Given the description of an element on the screen output the (x, y) to click on. 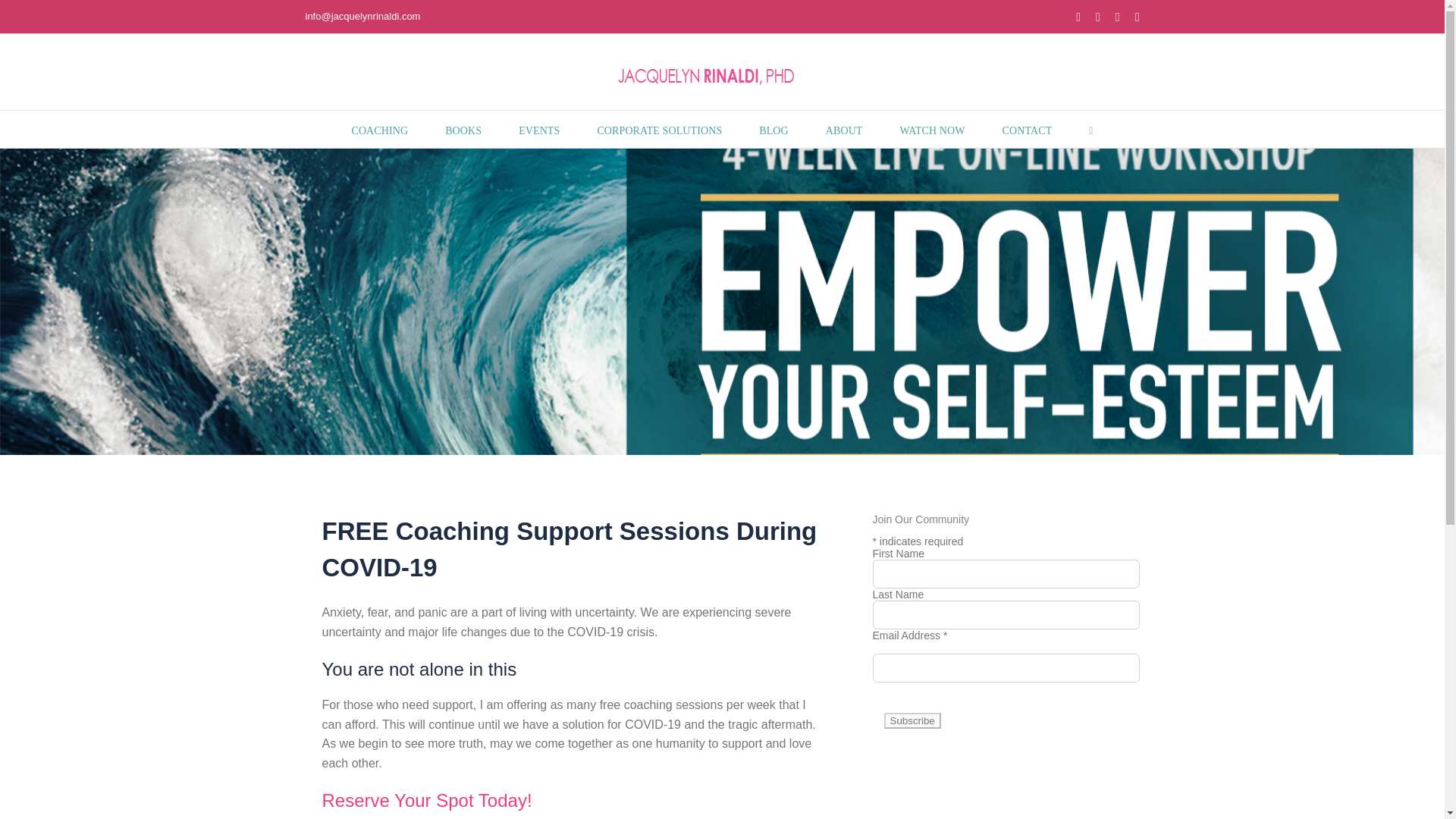
BOOKS (463, 129)
Subscribe (911, 720)
WATCH NOW (932, 129)
EVENTS (538, 129)
CONTACT (1027, 129)
ABOUT (844, 129)
Subscribe (911, 720)
YouTube (1137, 16)
Facebook (1077, 16)
CORPORATE SOLUTIONS (659, 129)
COACHING (378, 129)
LinkedIn (1117, 16)
Instagram (1098, 16)
BLOG (773, 129)
